Given the description of an element on the screen output the (x, y) to click on. 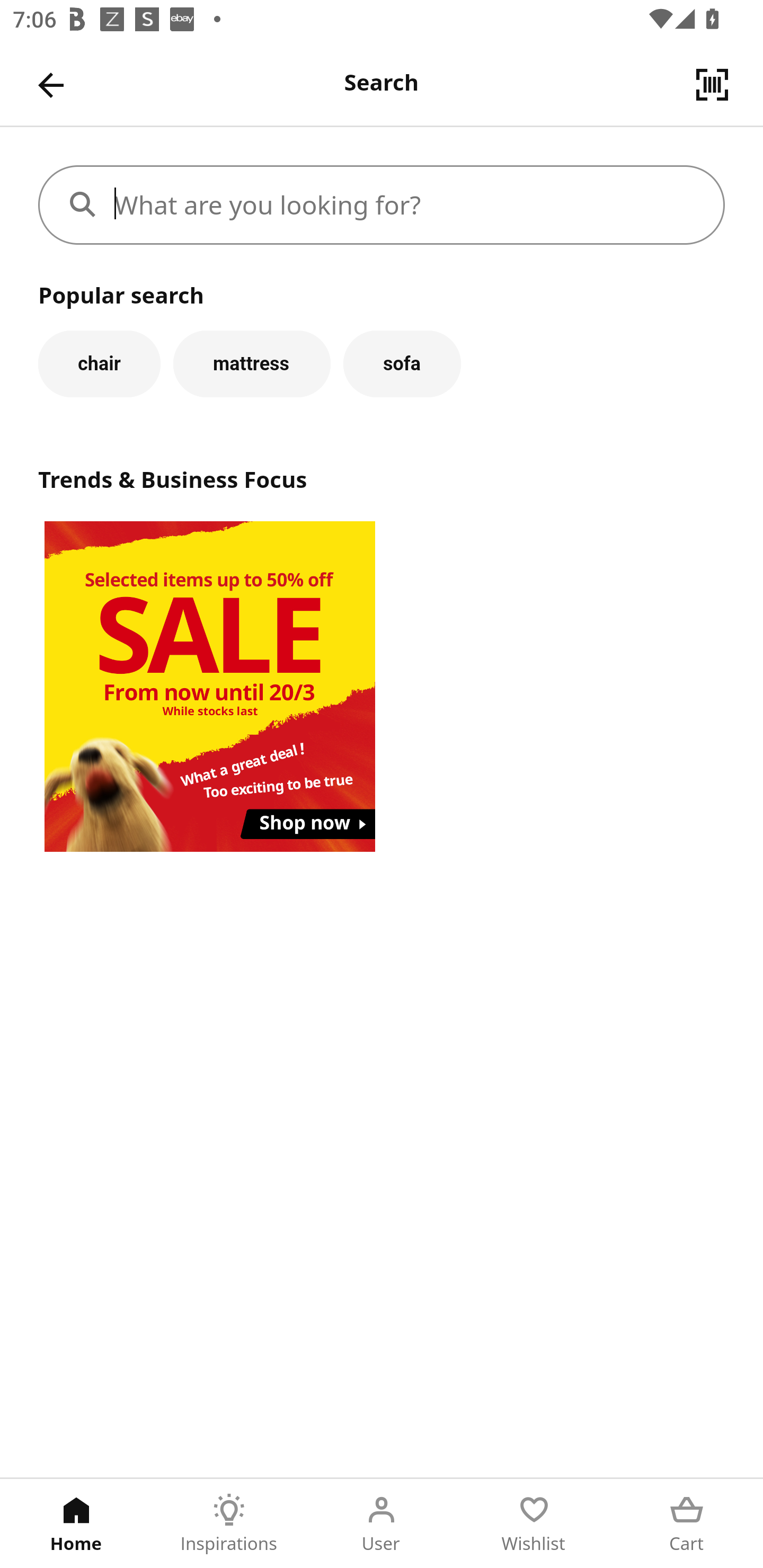
chair (99, 363)
mattress (251, 363)
sofa (401, 363)
Home
Tab 1 of 5 (76, 1522)
Inspirations
Tab 2 of 5 (228, 1522)
User
Tab 3 of 5 (381, 1522)
Wishlist
Tab 4 of 5 (533, 1522)
Cart
Tab 5 of 5 (686, 1522)
